Given the description of an element on the screen output the (x, y) to click on. 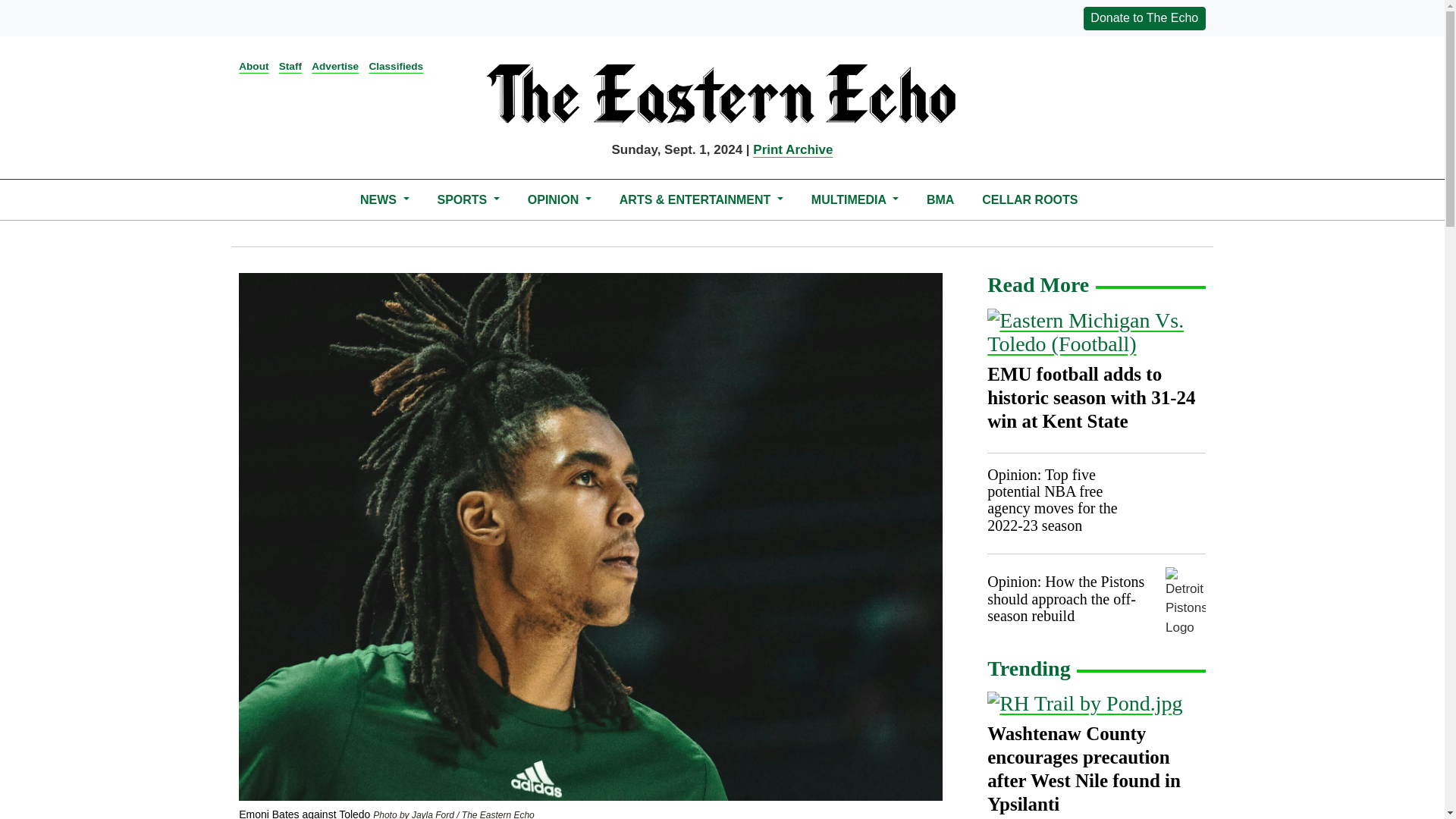
Print Archive (792, 149)
About (252, 66)
OPINION (558, 199)
Classifieds (395, 66)
Staff (290, 66)
Advertise (334, 66)
BMA (939, 199)
